Given the description of an element on the screen output the (x, y) to click on. 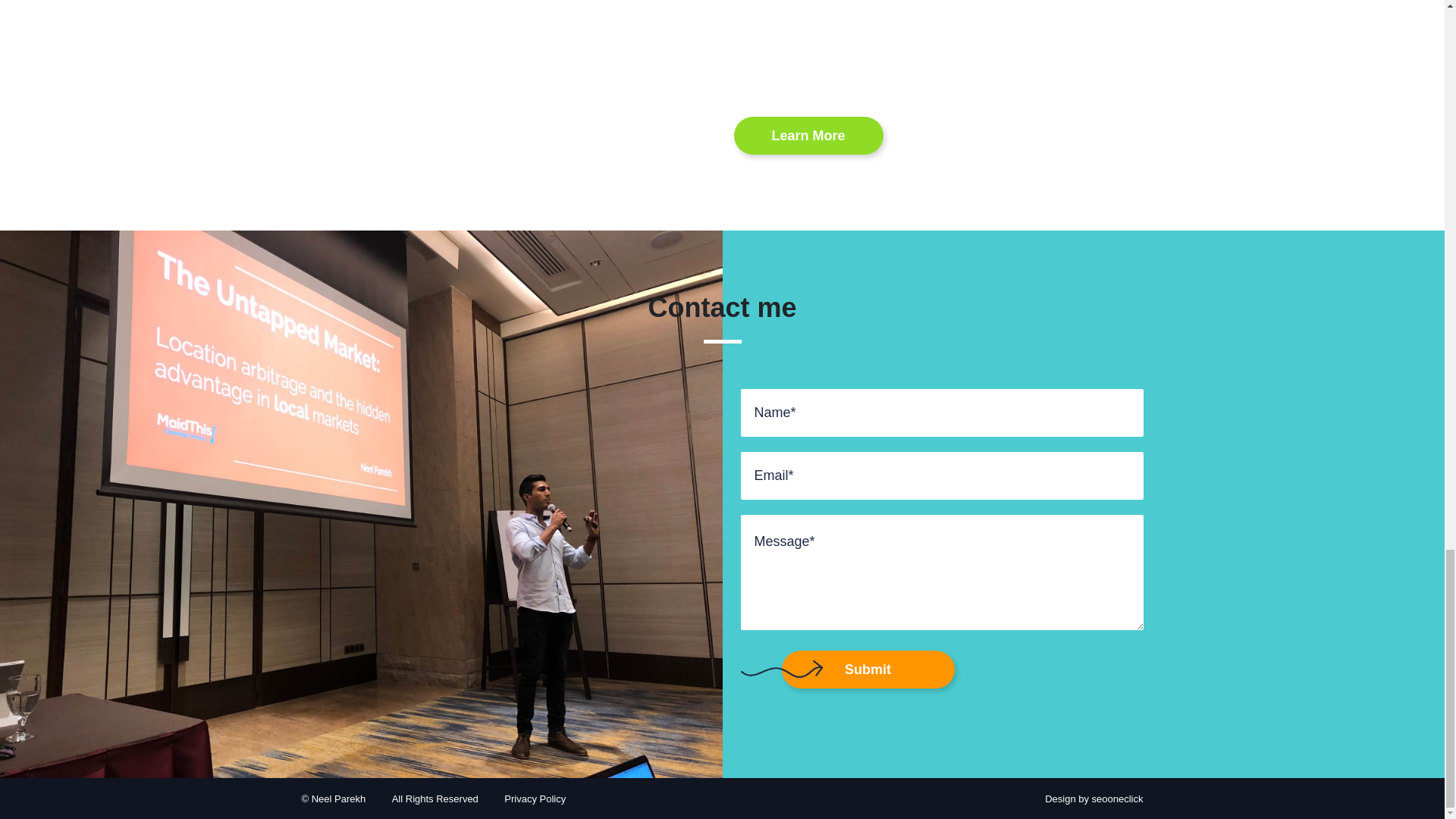
Submit (866, 669)
seooneclick (1117, 799)
Privacy Policy (534, 799)
MaidThis Franchise Origin Story with CEO Neel Parekh (976, 41)
Learn More (808, 135)
